Given the description of an element on the screen output the (x, y) to click on. 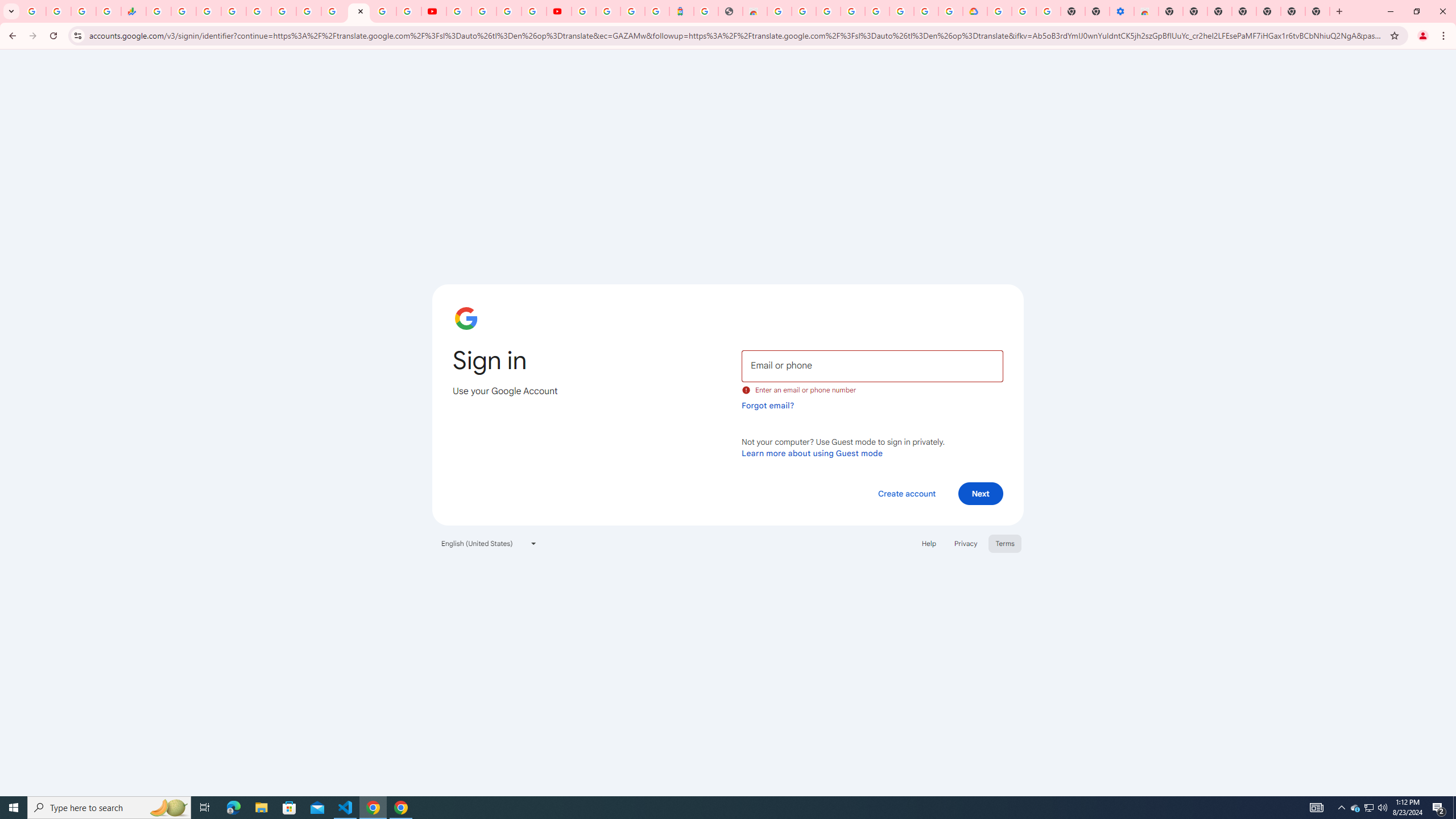
Sign in - Google Accounts (608, 11)
YouTube (458, 11)
YouTube (332, 11)
Google Workspace Admin Community (33, 11)
New Tab (1317, 11)
Sign in - Google Accounts (999, 11)
